Given the description of an element on the screen output the (x, y) to click on. 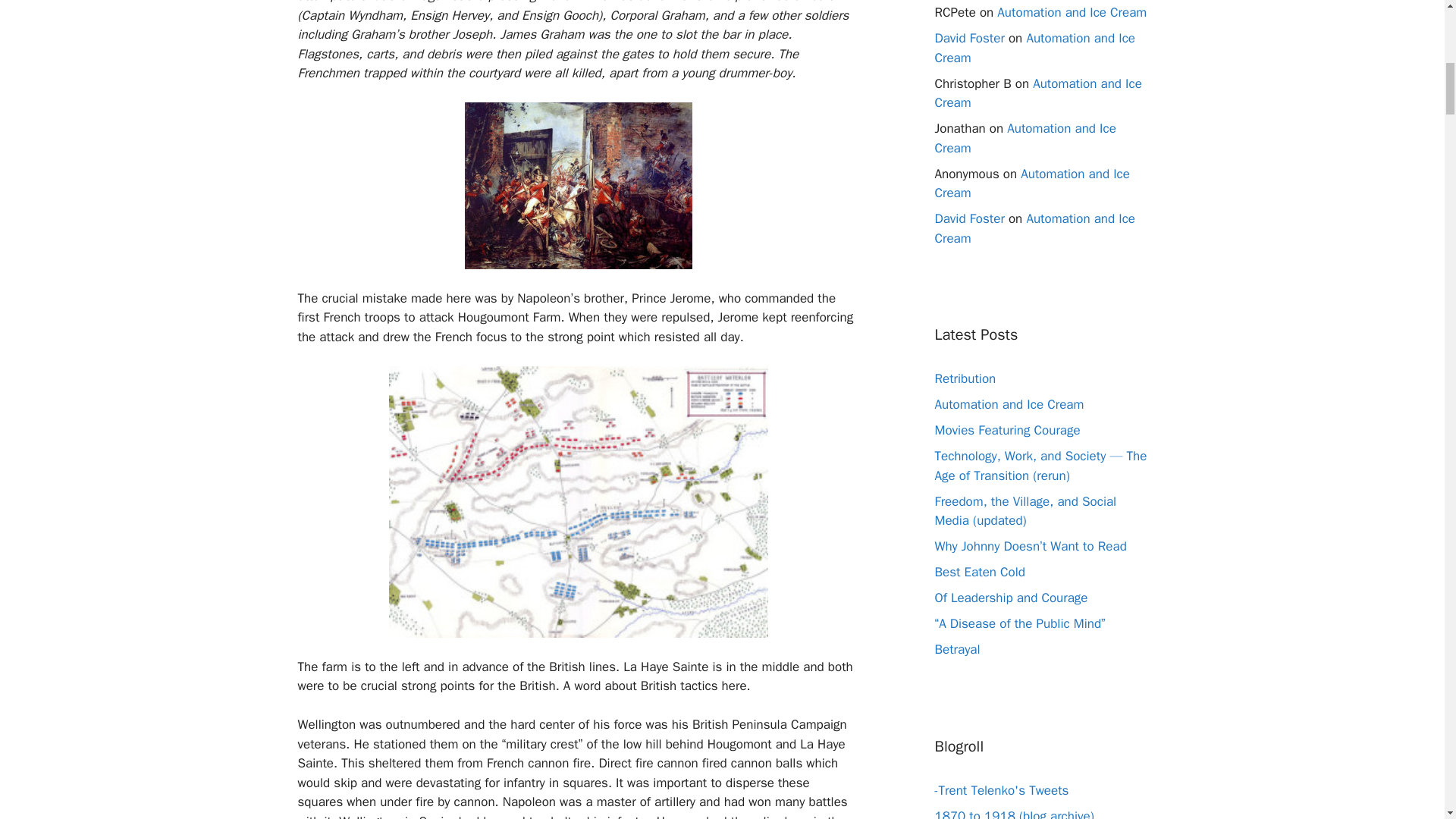
Scroll back to top (1406, 720)
